Given the description of an element on the screen output the (x, y) to click on. 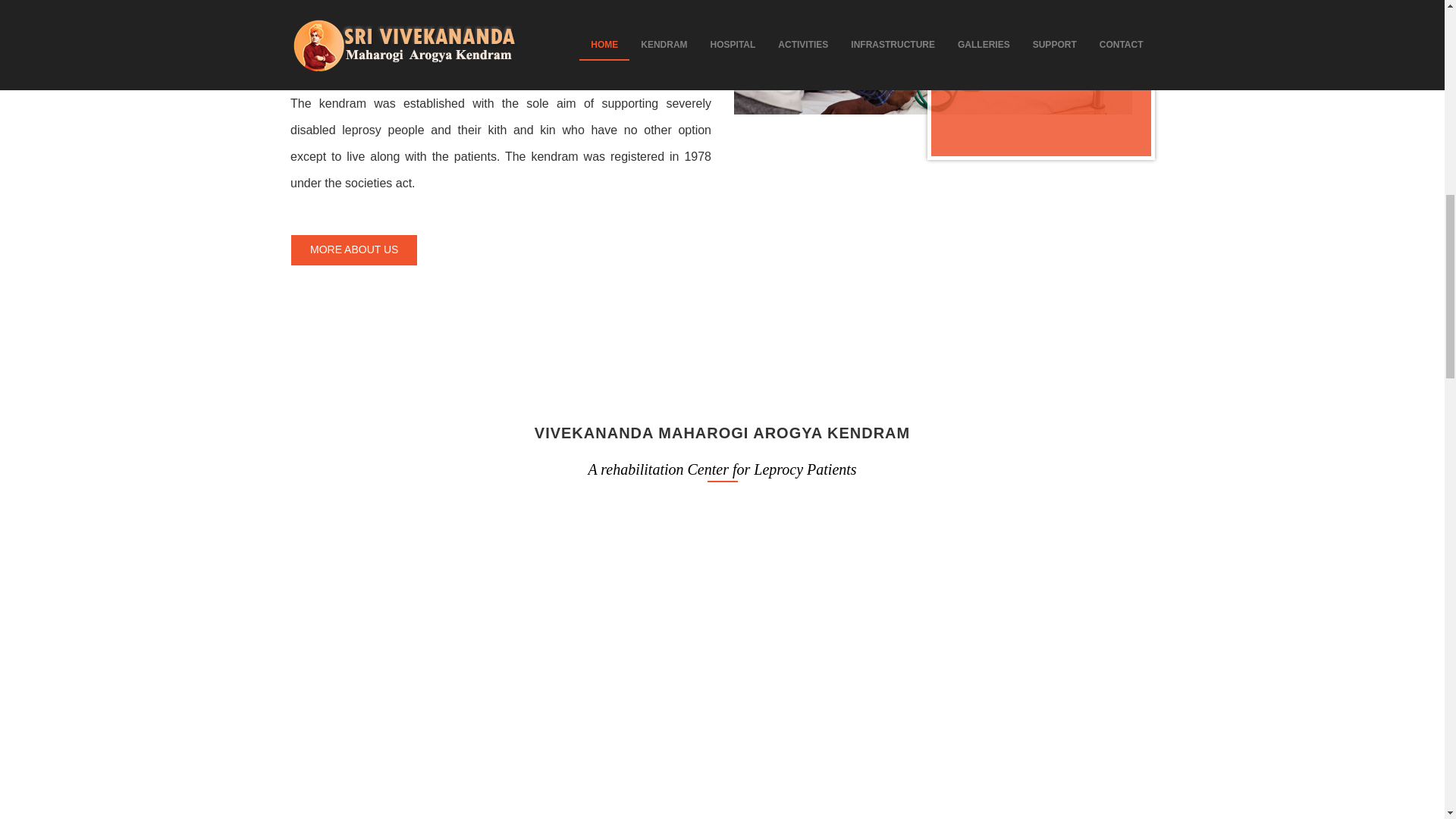
MORE ABOUT US (382, 224)
